Given the description of an element on the screen output the (x, y) to click on. 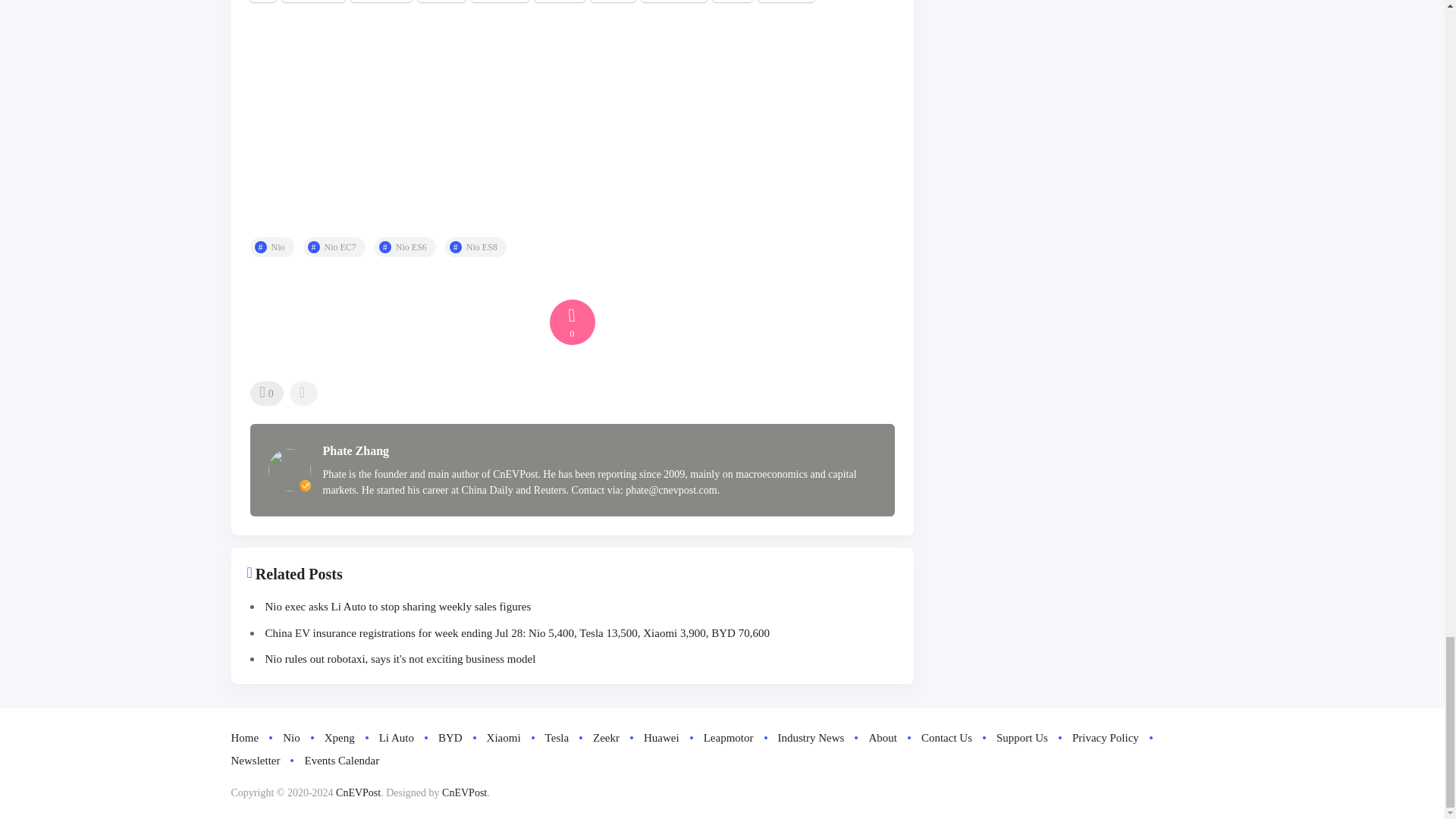
Click to email a link to a friend (612, 1)
Click to share on Facebook (313, 1)
Click to share on X (263, 1)
Click to share on Reddit (441, 1)
Click to print (732, 1)
Click to share on LinkedIn (499, 1)
Click to share on Telegram (380, 1)
Click to share on WhatsApp (674, 1)
X (263, 1)
Click to share on Pocket (559, 1)
